Given the description of an element on the screen output the (x, y) to click on. 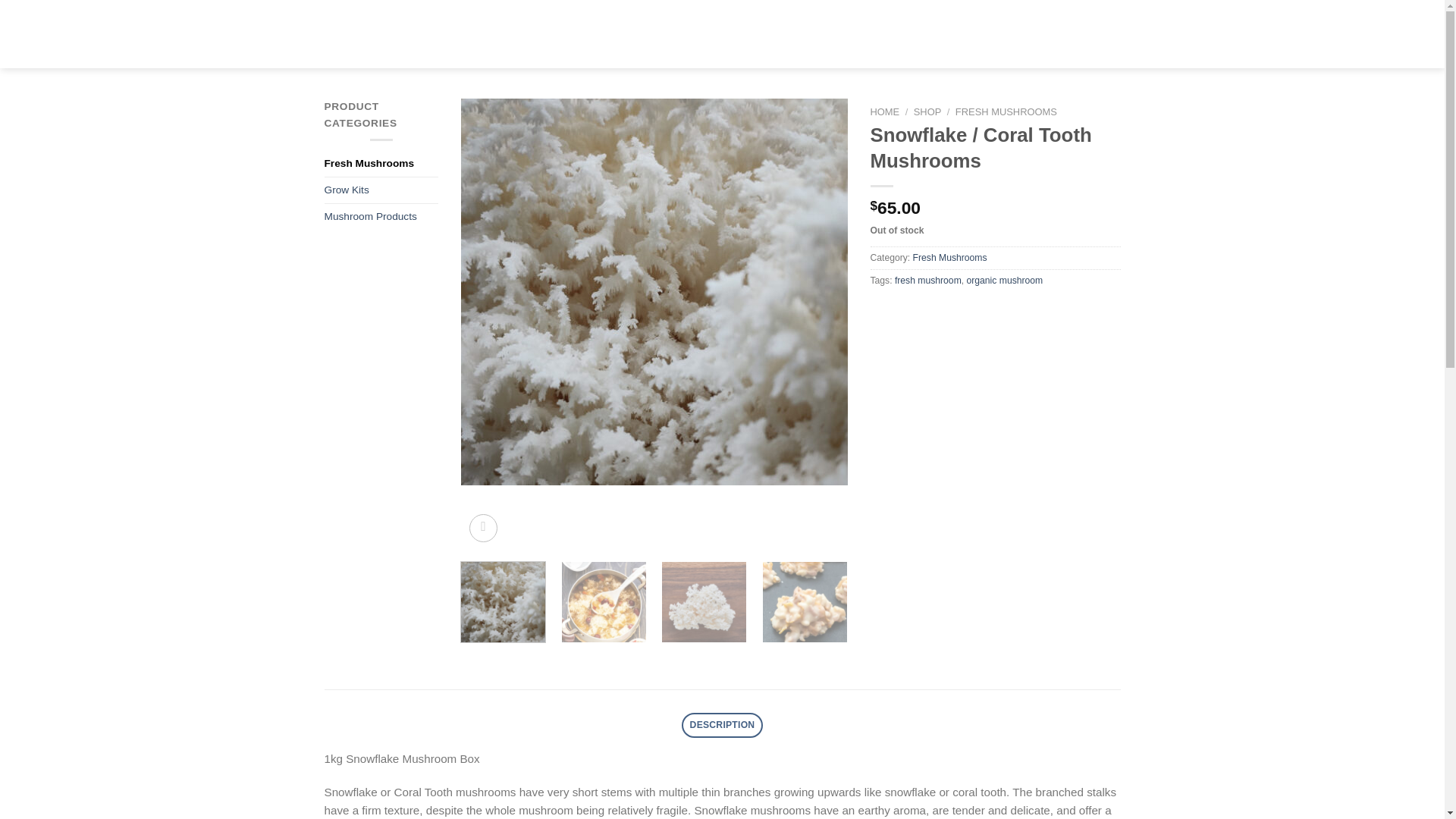
Mushroom Products (381, 216)
Clever Mushroom - Australian Mushrooms (721, 33)
ABOUT (604, 33)
Zoom (482, 528)
CONTACT (1003, 33)
Fresh Mushrooms (381, 163)
WHOLESALE (517, 33)
STOCKISTS (848, 33)
Grow Kits (381, 190)
